Given the description of an element on the screen output the (x, y) to click on. 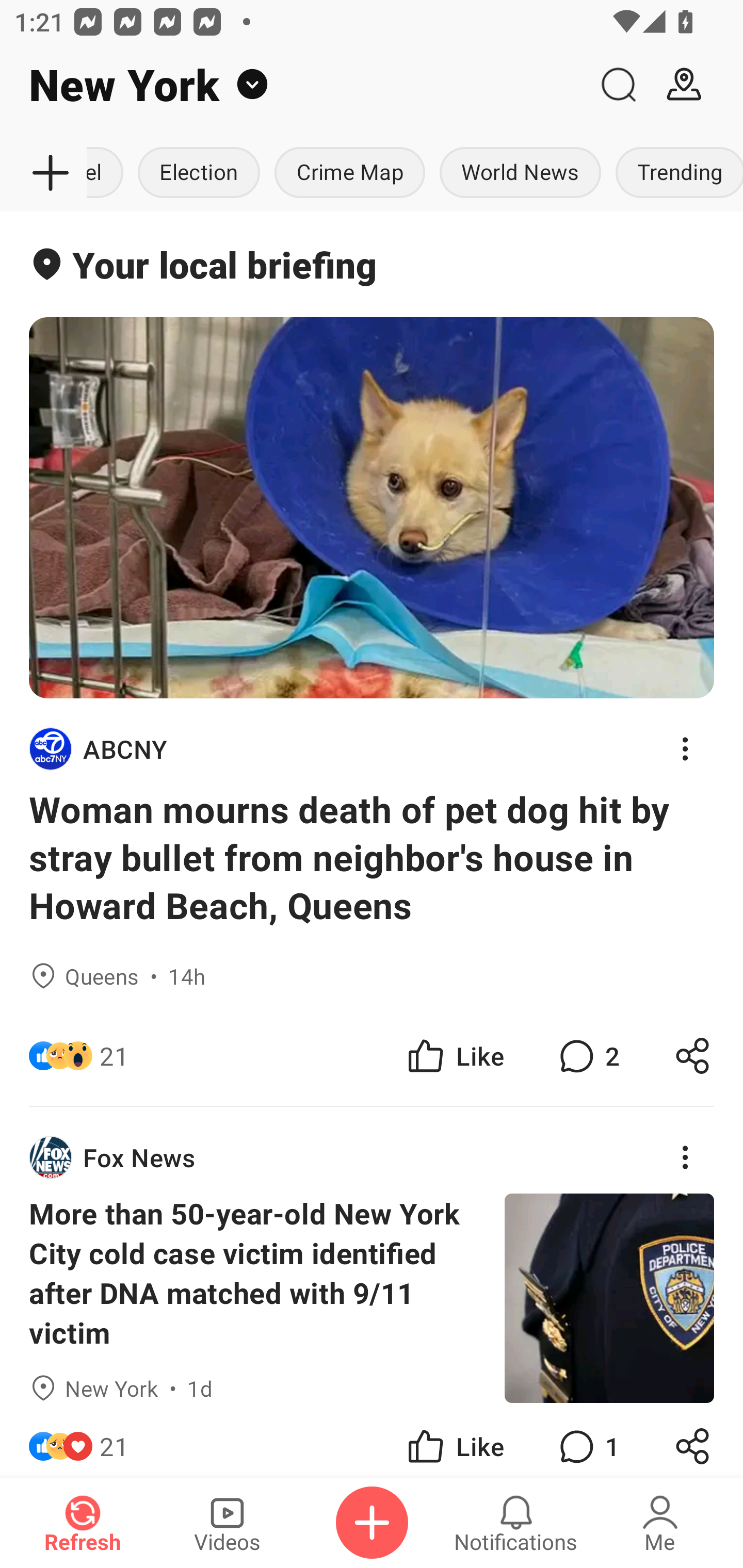
New York (292, 84)
Travel (108, 172)
Election (198, 172)
Crime Map (349, 172)
World News (520, 172)
Trending (675, 172)
21 (114, 1055)
Like (454, 1055)
2 (587, 1055)
21 (114, 1440)
Like (454, 1440)
1 (587, 1440)
Videos (227, 1522)
Notifications (516, 1522)
Me (659, 1522)
